Given the description of an element on the screen output the (x, y) to click on. 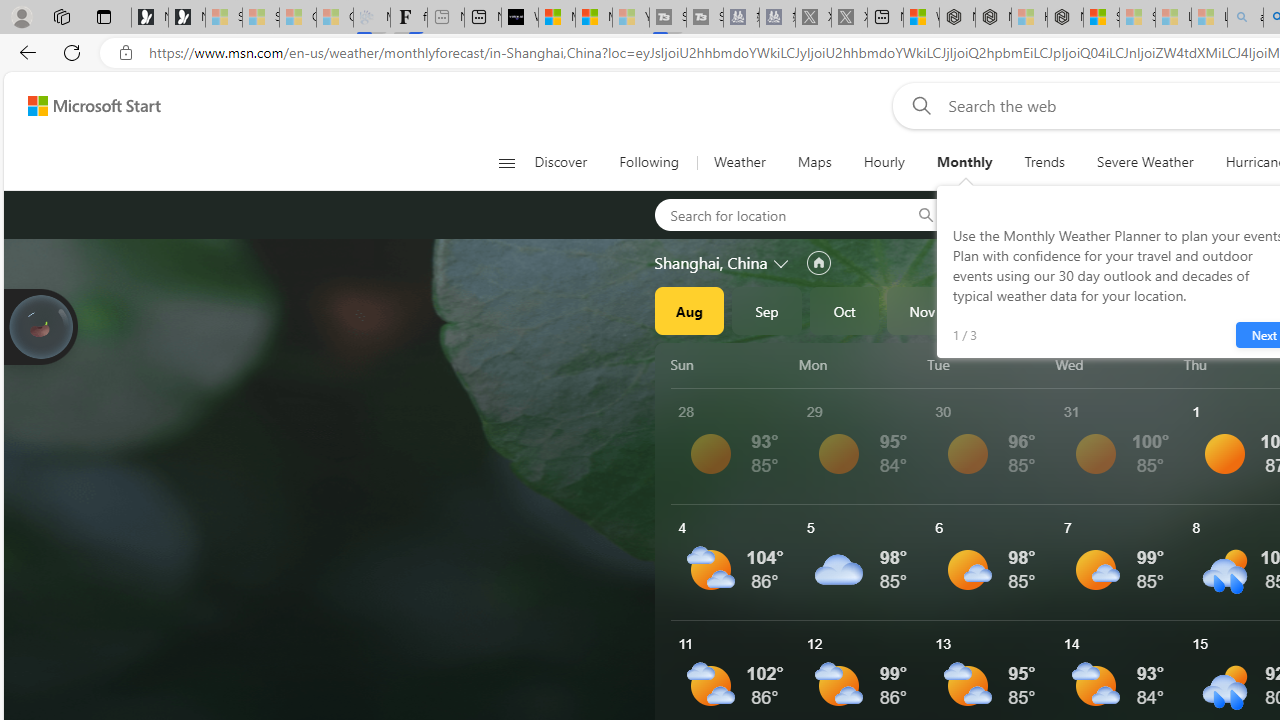
Newsletter Sign Up (186, 17)
Maps (813, 162)
Change location (782, 262)
Mar (1233, 310)
2025Jan (1077, 310)
Maps (814, 162)
